Given the description of an element on the screen output the (x, y) to click on. 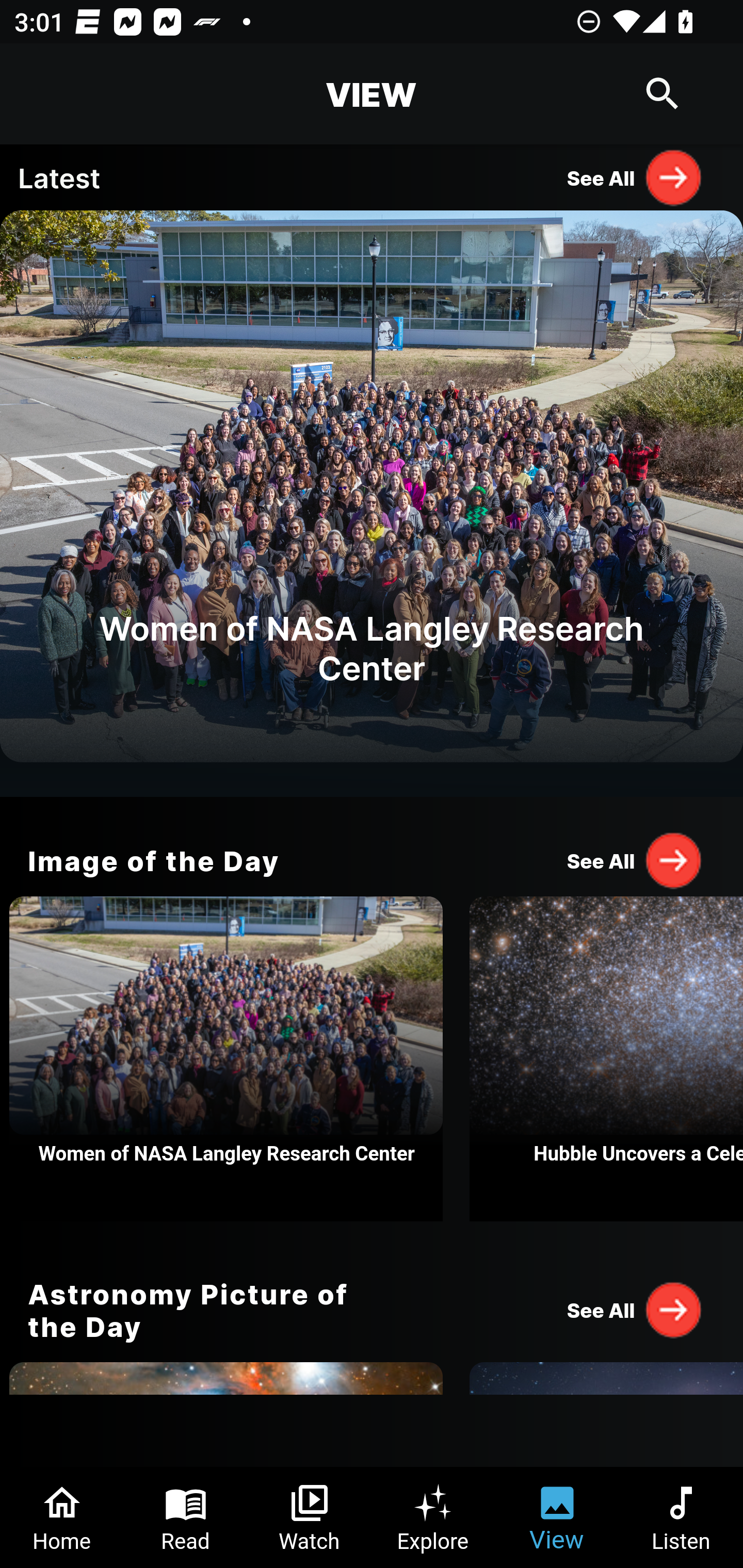
See All (634, 177)
Women of NASA Langley Research Center
Hello World (371, 503)
See All (634, 860)
Women of NASA Langley Research Center (225, 1058)
Hubble Uncovers a Celestial Fossil (606, 1058)
See All (634, 1309)
Home
Tab 1 of 6 (62, 1517)
Read
Tab 2 of 6 (185, 1517)
Watch
Tab 3 of 6 (309, 1517)
Explore
Tab 4 of 6 (433, 1517)
View
Tab 5 of 6 (556, 1517)
Listen
Tab 6 of 6 (680, 1517)
